Given the description of an element on the screen output the (x, y) to click on. 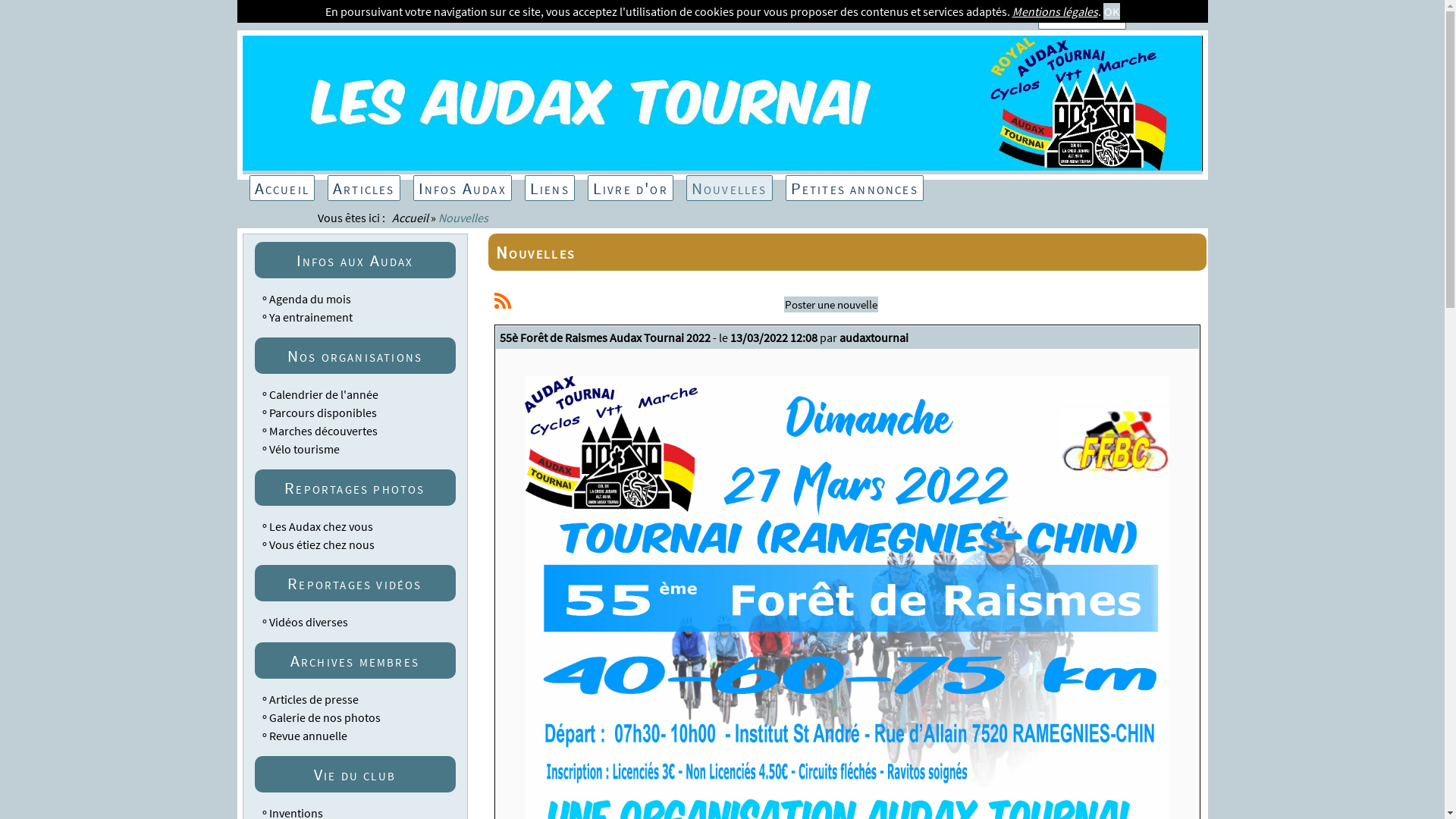
Connexion Element type: text (1082, 16)
Accueil Element type: text (409, 217)
Liens Element type: text (549, 187)
Articles de presse Element type: text (312, 698)
Ya entrainement Element type: text (309, 316)
Parcours disponibles Element type: text (322, 412)
Revue annuelle Element type: text (307, 735)
Petites annonces Element type: text (854, 187)
OK Element type: text (1110, 11)
Audax Tournai Element type: hover (722, 166)
Galerie de nos photos Element type: text (323, 716)
Infos Audax Element type: text (462, 187)
Poster une nouvelle Element type: text (831, 304)
Nouvelles Element type: text (729, 187)
Articles Element type: text (363, 187)
Livre d'or Element type: text (630, 187)
Accueil Element type: text (280, 187)
Les Audax chez vous Element type: text (320, 525)
Agenda du mois Element type: text (309, 298)
